Given the description of an element on the screen output the (x, y) to click on. 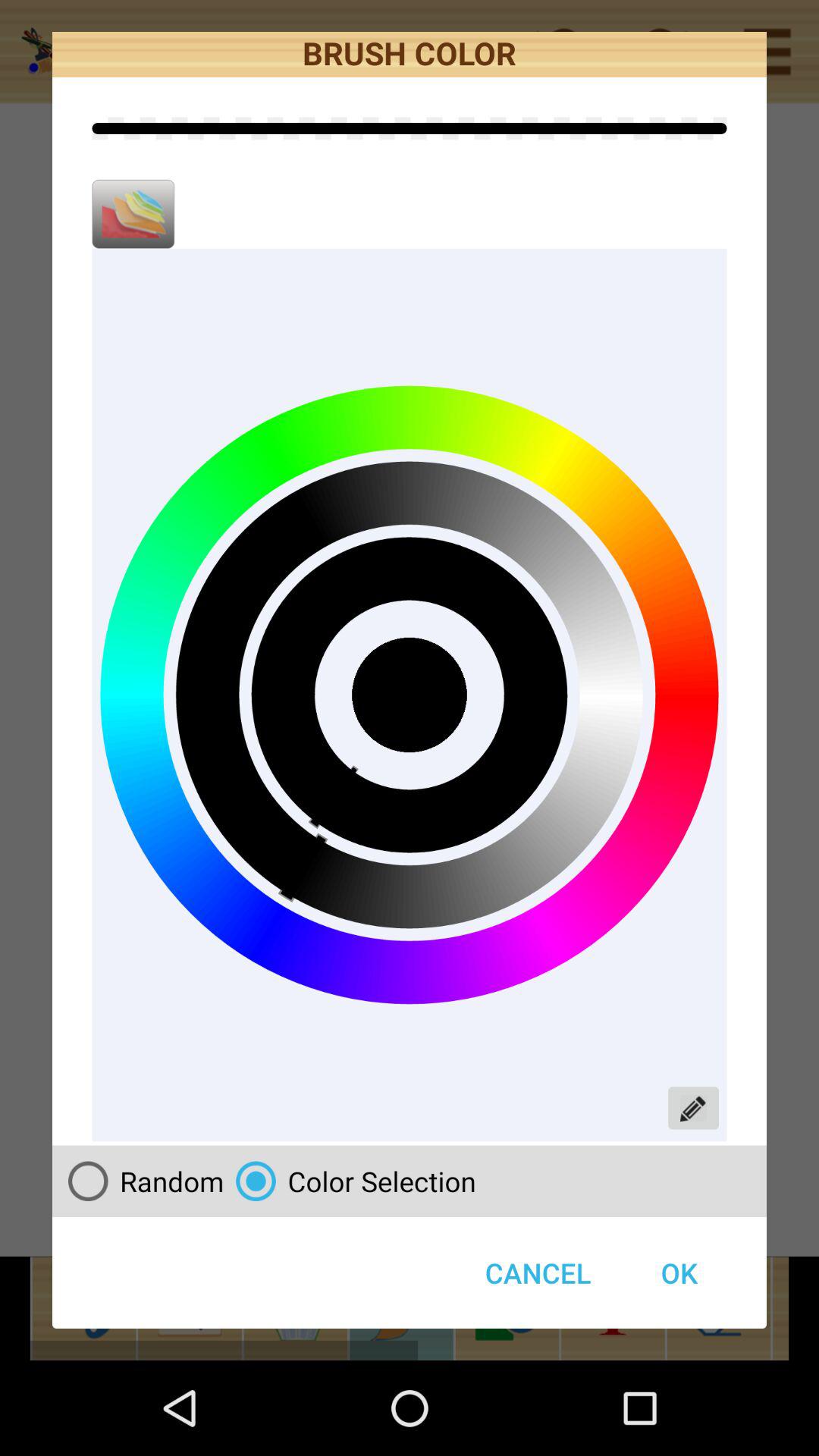
jump until the color selection radio button (350, 1181)
